Given the description of an element on the screen output the (x, y) to click on. 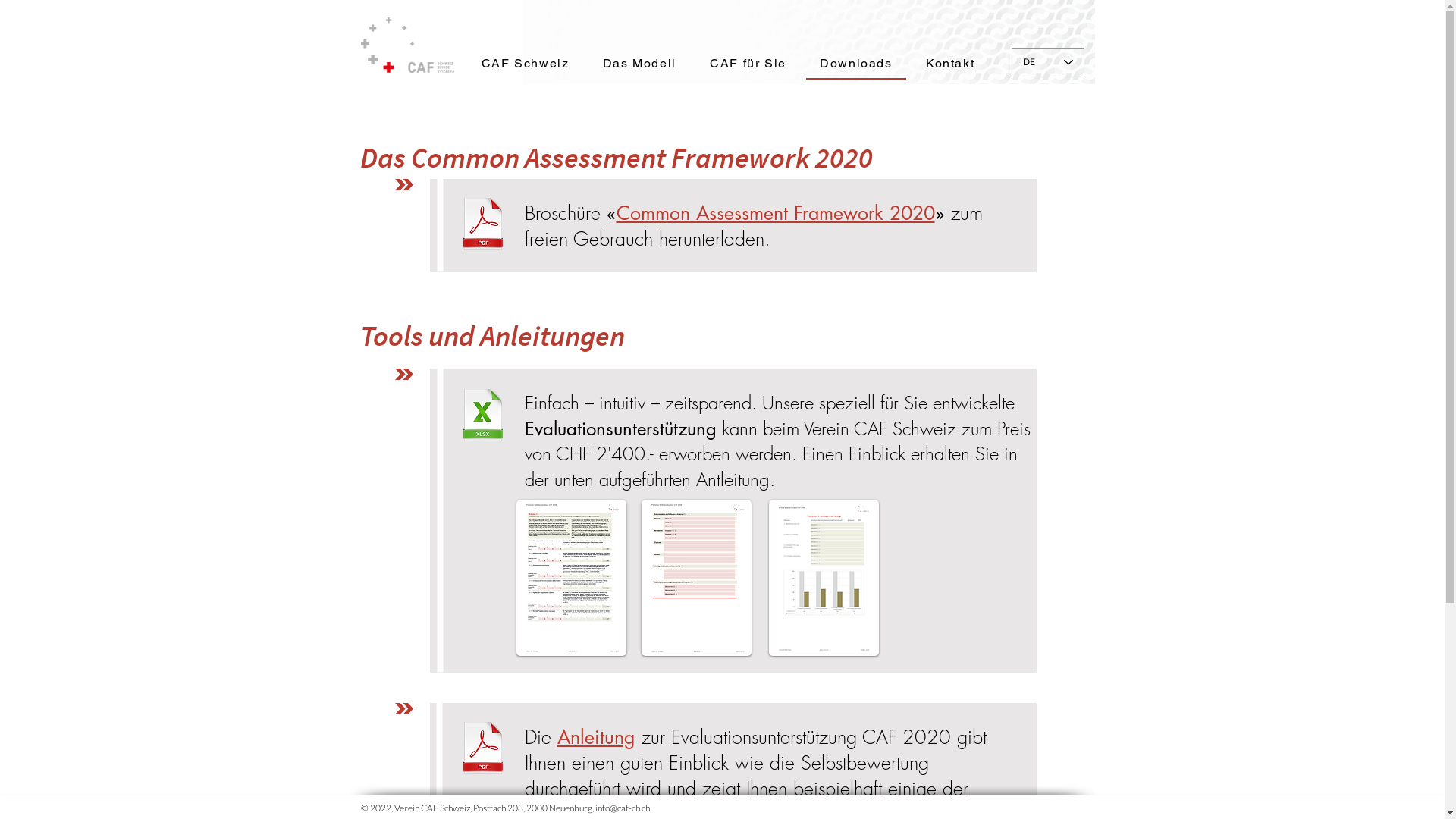
Common Assessment Framework 2020 Element type: text (774, 212)
CAF Schweiz Element type: text (524, 63)
info@caf-ch.ch Element type: text (621, 807)
Kontakt Element type: text (950, 63)
Downloads Element type: text (856, 63)
preview-tool-03.png Element type: hover (823, 577)
Das Modell Element type: text (639, 63)
Anleitung Element type: text (595, 736)
CAF Schweiz Element type: hover (407, 44)
preview-tool-01.png Element type: hover (570, 577)
preview-tool-02.png Element type: hover (696, 577)
